Given the description of an element on the screen output the (x, y) to click on. 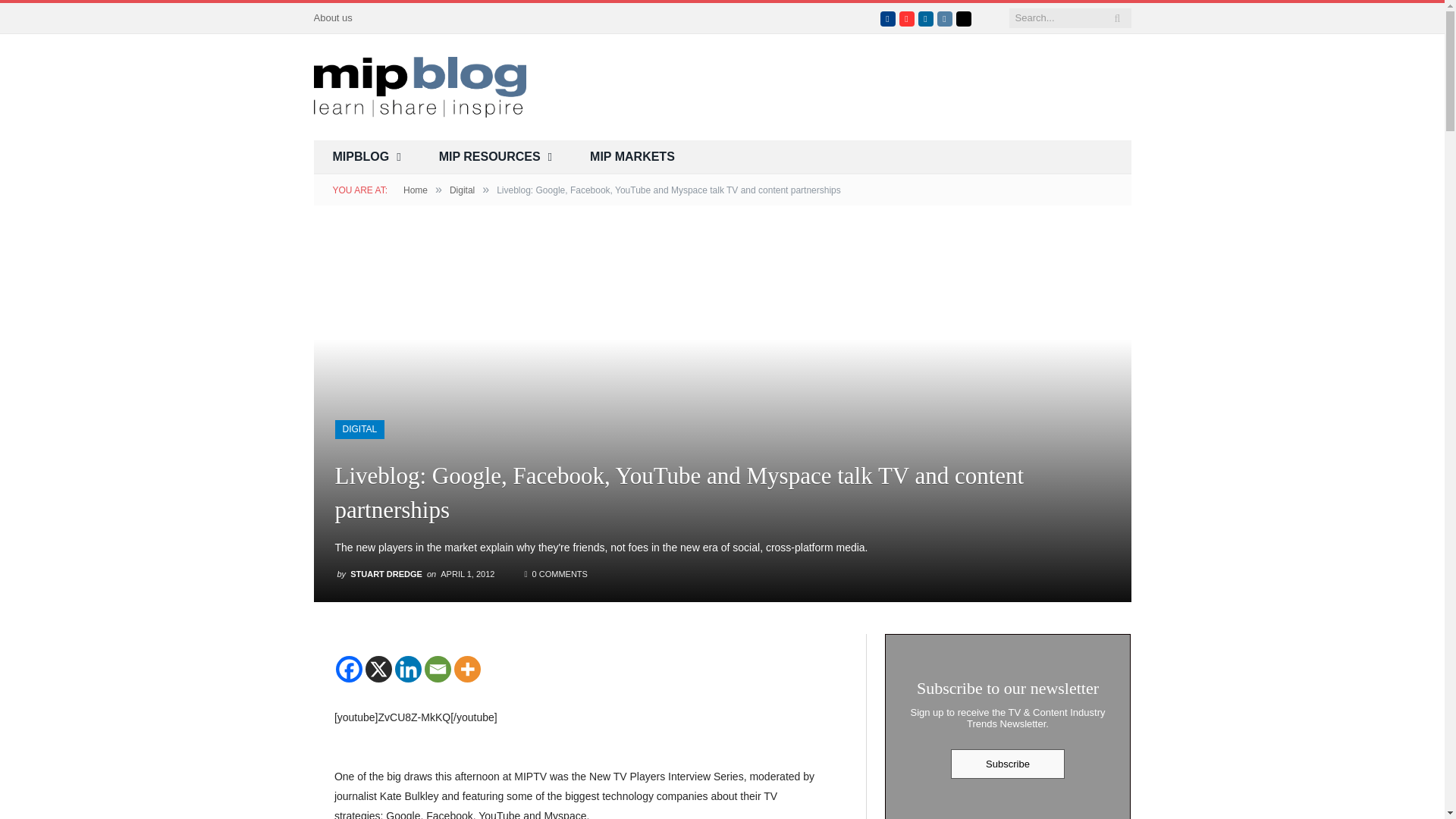
LinkedIn (925, 18)
Twitter (868, 18)
Instagram (944, 18)
Youtube (906, 18)
MIPBLOG (367, 157)
2012-04-01 (467, 573)
Home (415, 190)
MIPBlog (419, 84)
Digital (461, 190)
Youtube (906, 18)
